Given the description of an element on the screen output the (x, y) to click on. 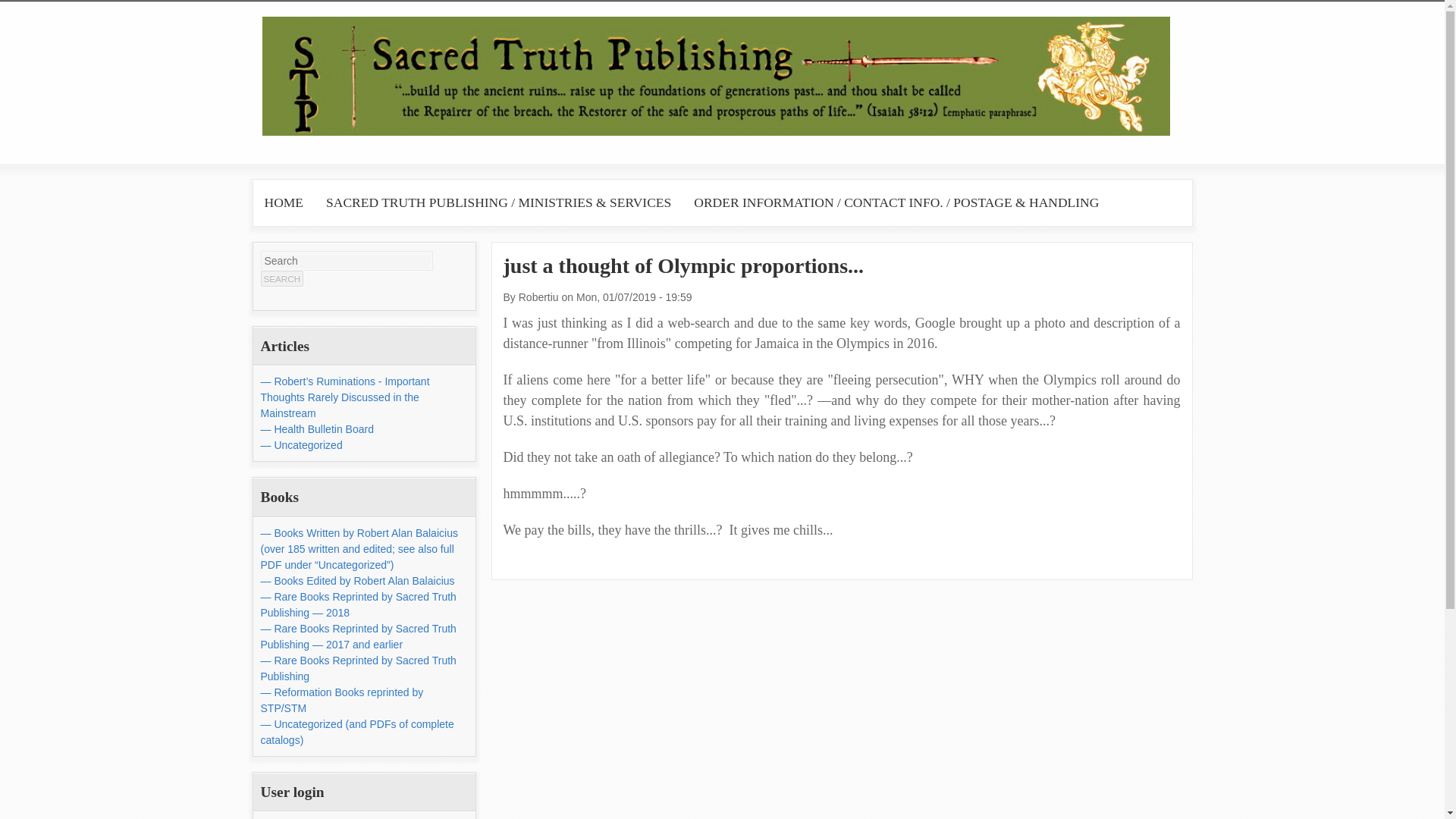
Search (282, 278)
HOME (284, 202)
Search (282, 278)
Enter the terms you wish to search for. (346, 260)
